Given the description of an element on the screen output the (x, y) to click on. 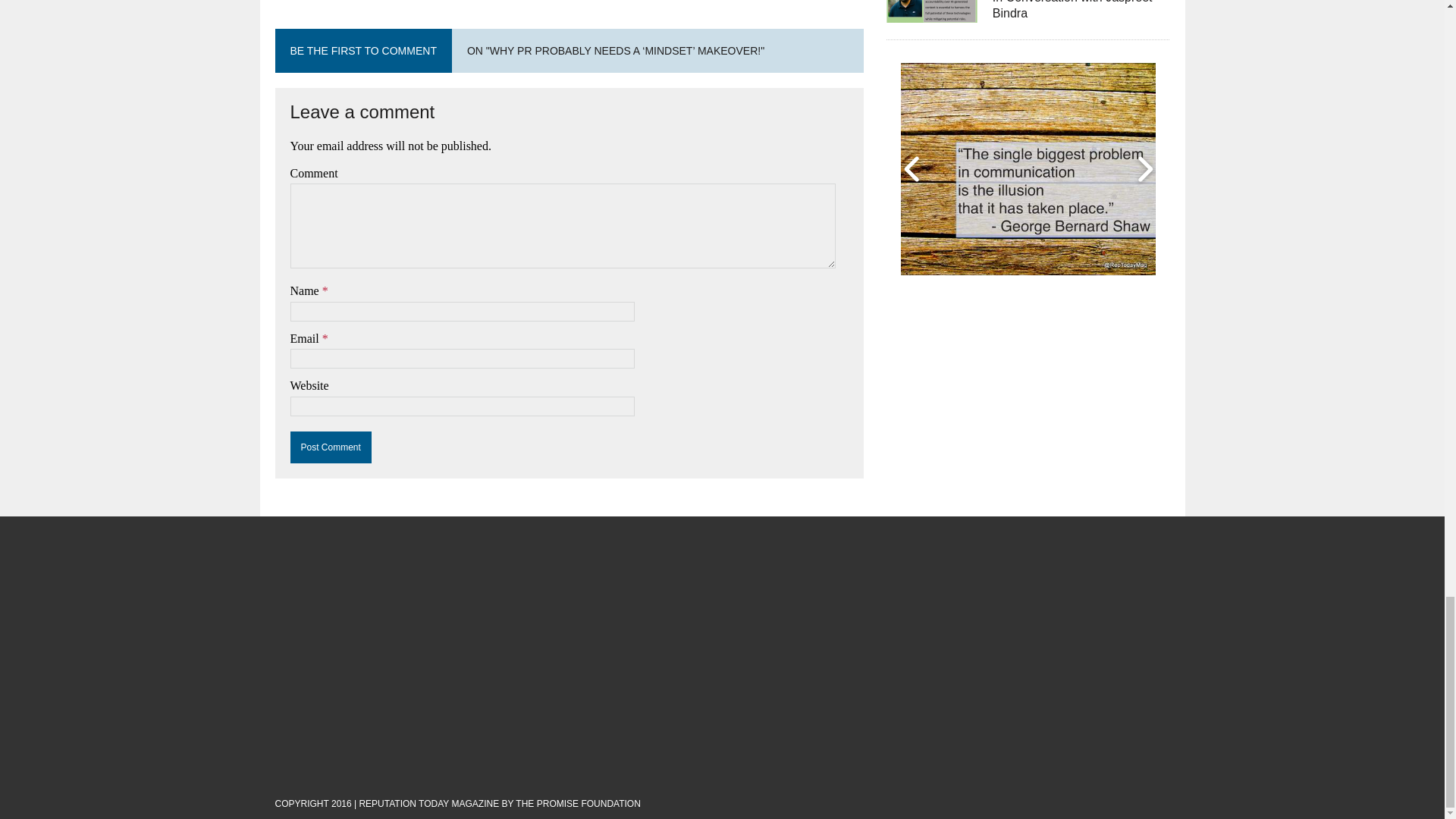
Post Comment (330, 447)
